Given the description of an element on the screen output the (x, y) to click on. 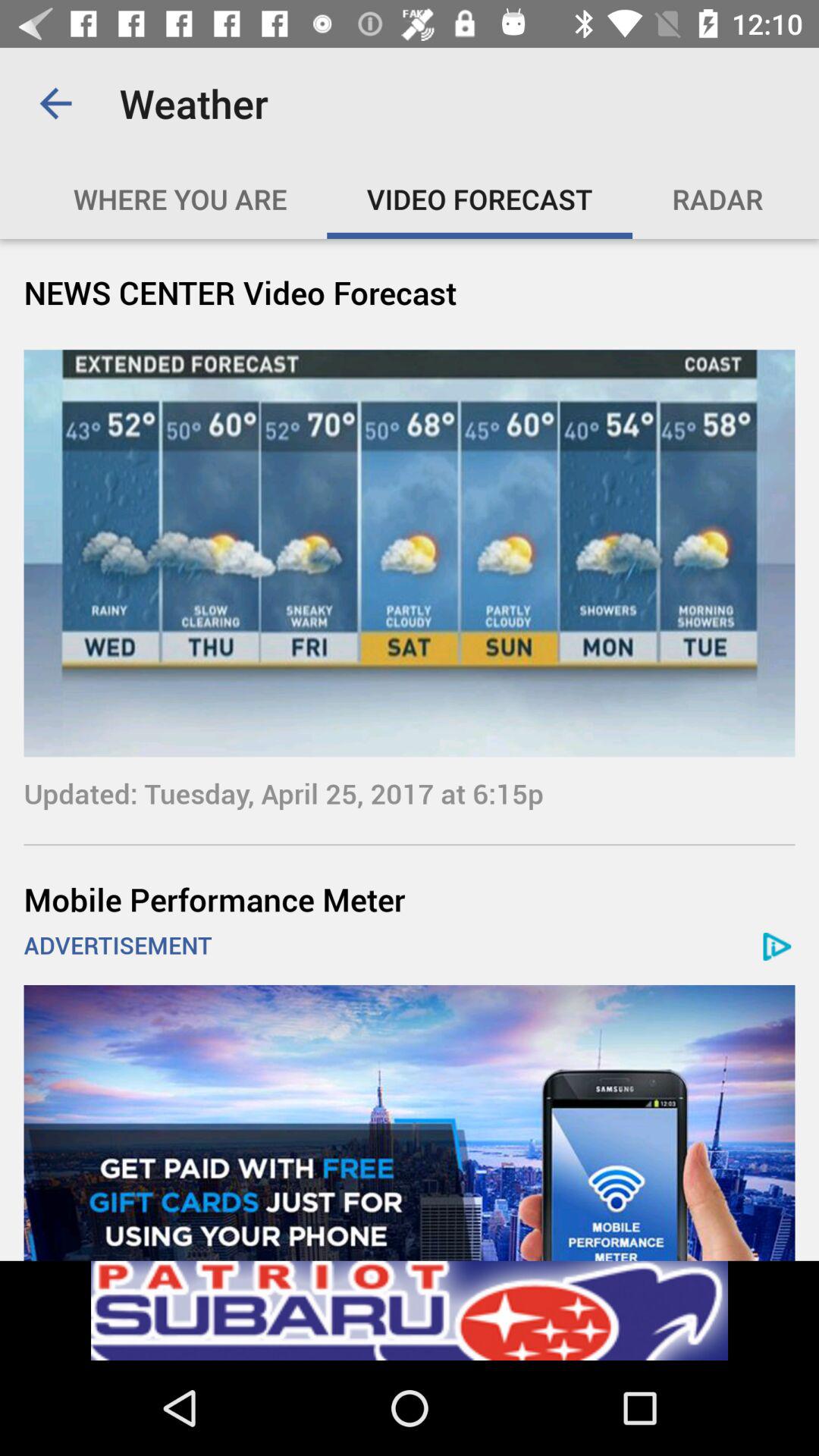
mobile performance meter advertisement (409, 1122)
